Given the description of an element on the screen output the (x, y) to click on. 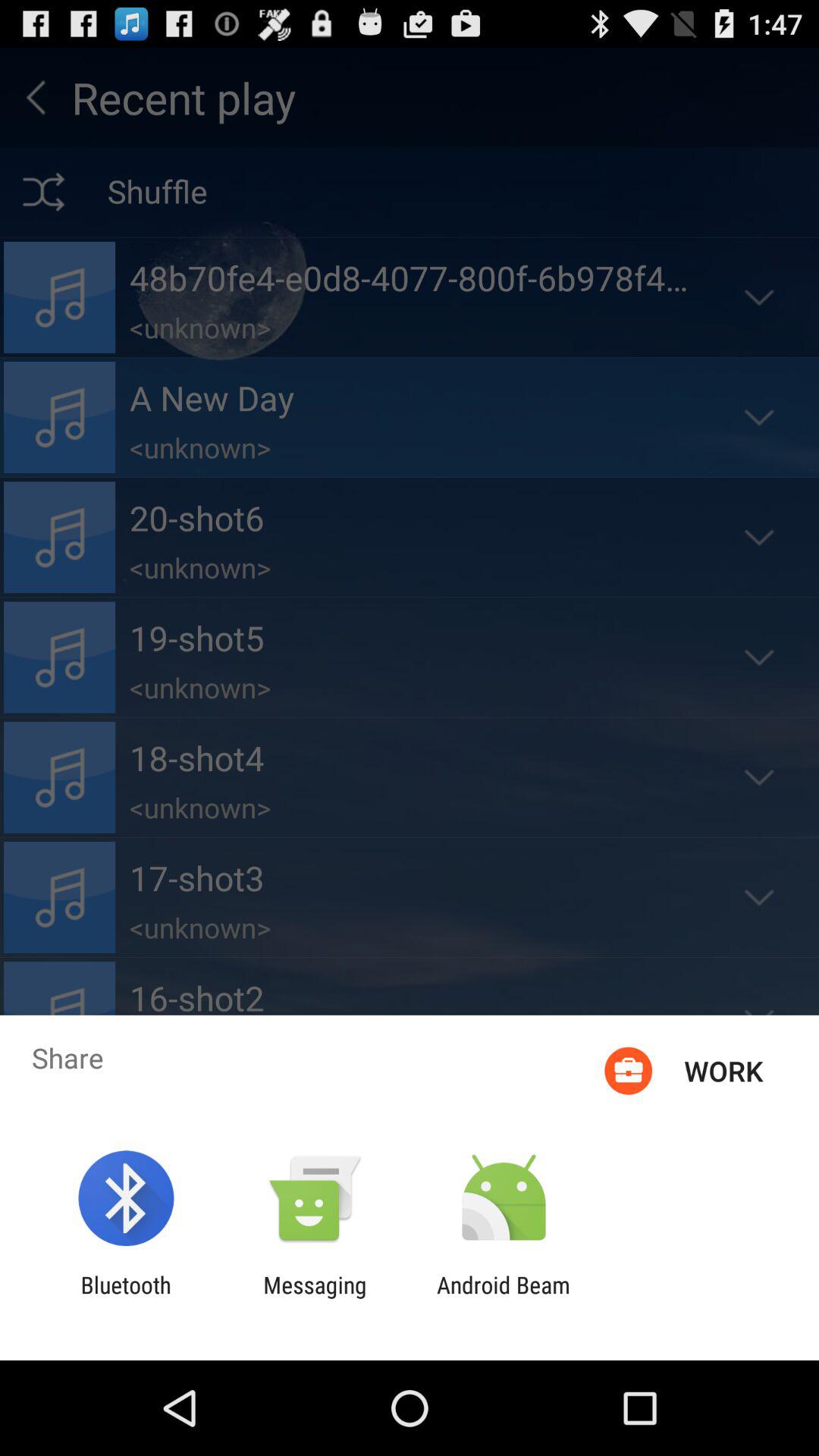
turn on icon to the left of the messaging item (125, 1298)
